Given the description of an element on the screen output the (x, y) to click on. 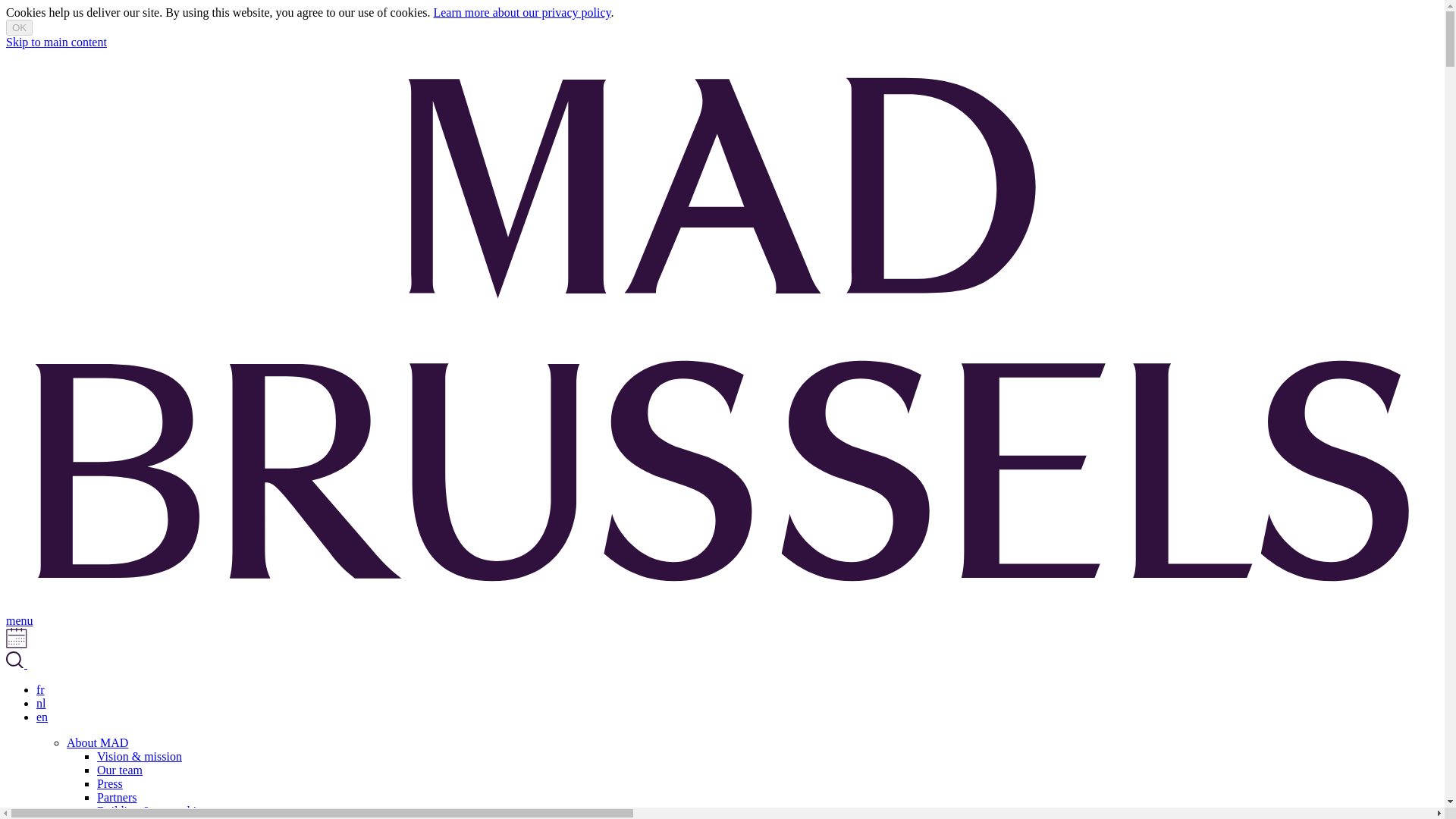
Partners (116, 797)
OK (18, 27)
Our team (119, 769)
About MAD (97, 742)
Press (109, 783)
Learn more about our privacy policy (521, 11)
Skip to main content (55, 42)
